Given the description of an element on the screen output the (x, y) to click on. 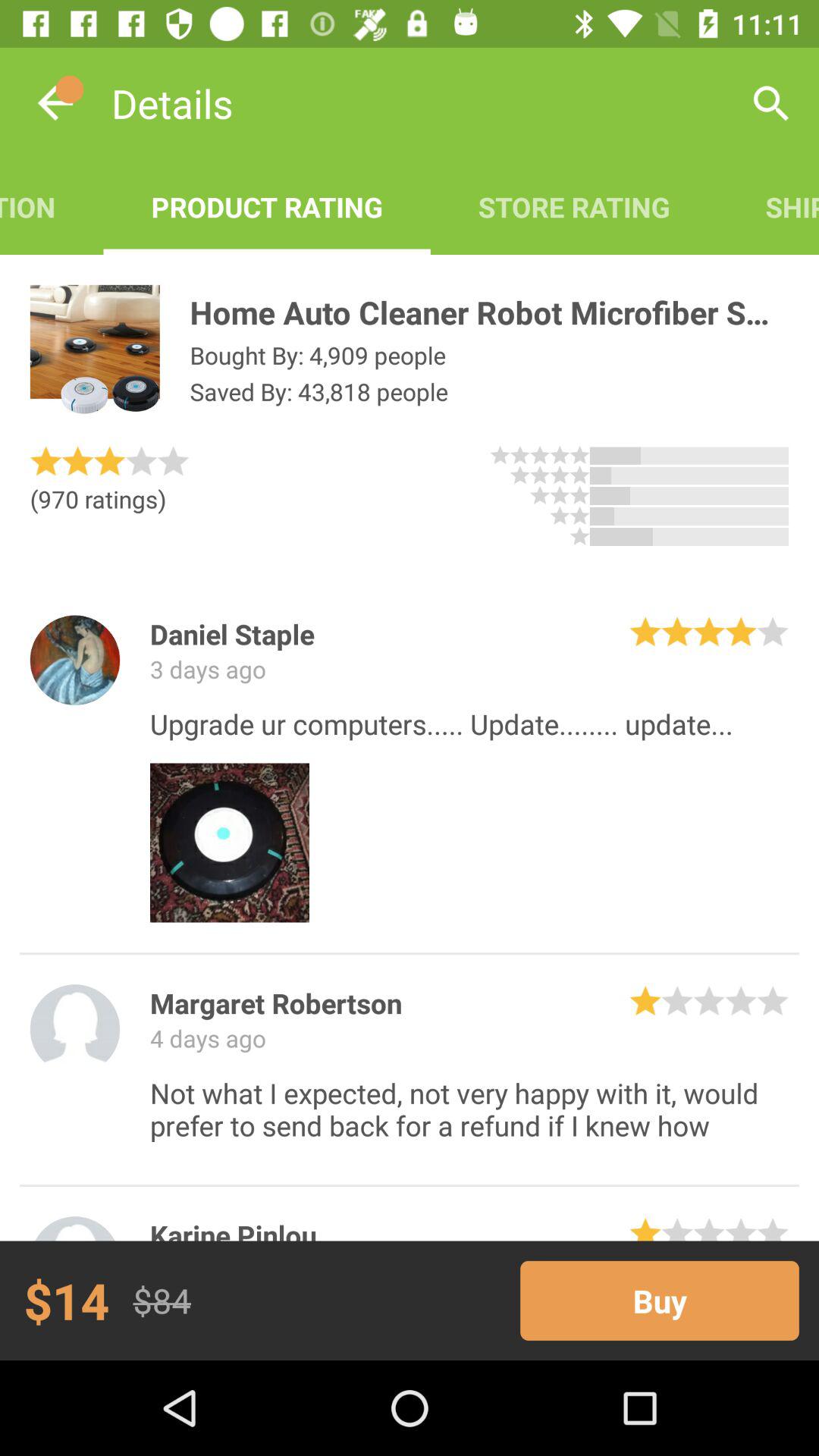
click the item to the left of details (55, 103)
